Given the description of an element on the screen output the (x, y) to click on. 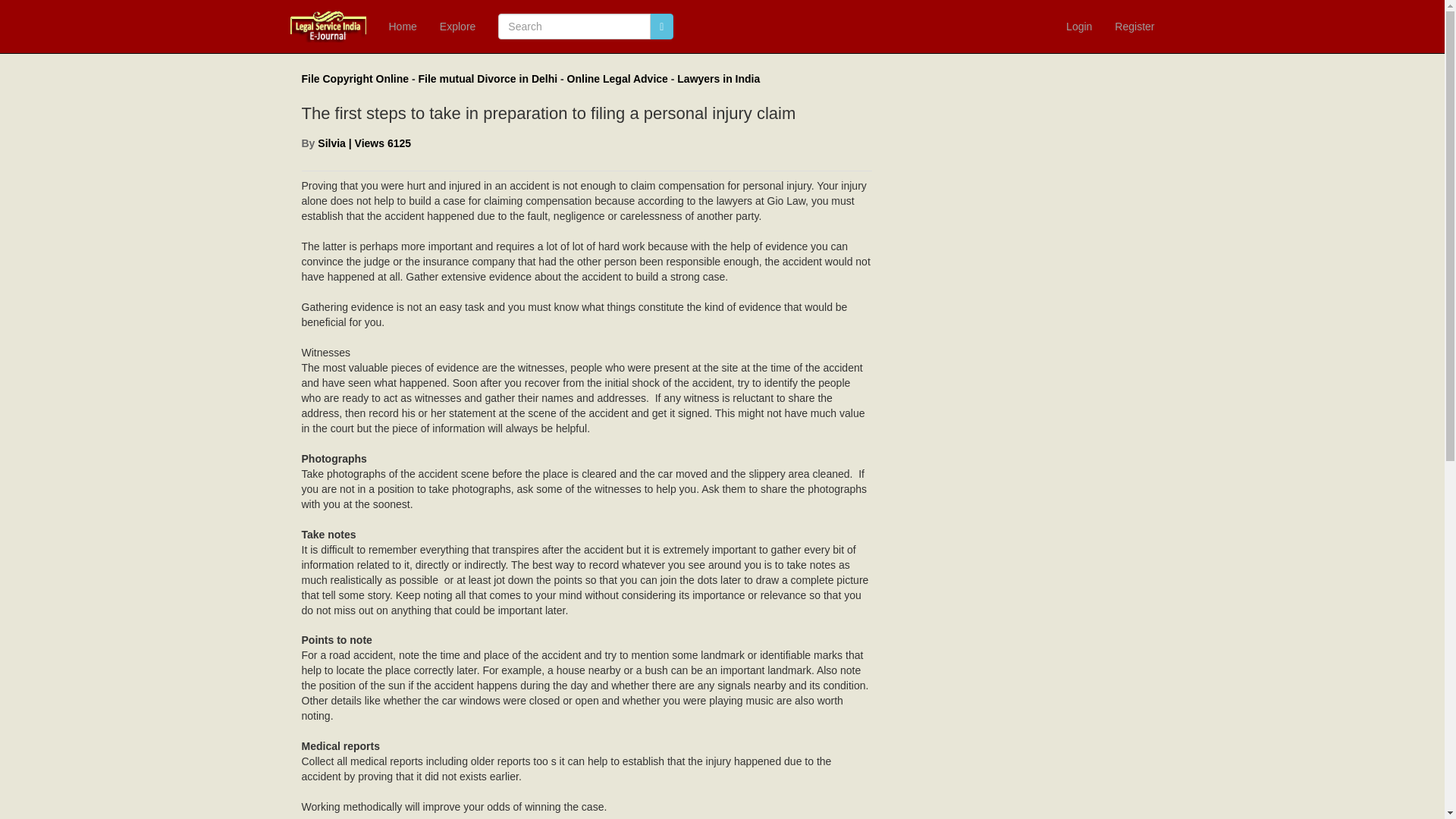
Login (1078, 26)
Register (1134, 26)
Online Legal Advice (617, 78)
Explore (457, 26)
File Copyright Online (355, 78)
Lawyers in India (718, 78)
File mutual Divorce in Delhi (488, 78)
Home (402, 26)
Copyright (355, 78)
